Given the description of an element on the screen output the (x, y) to click on. 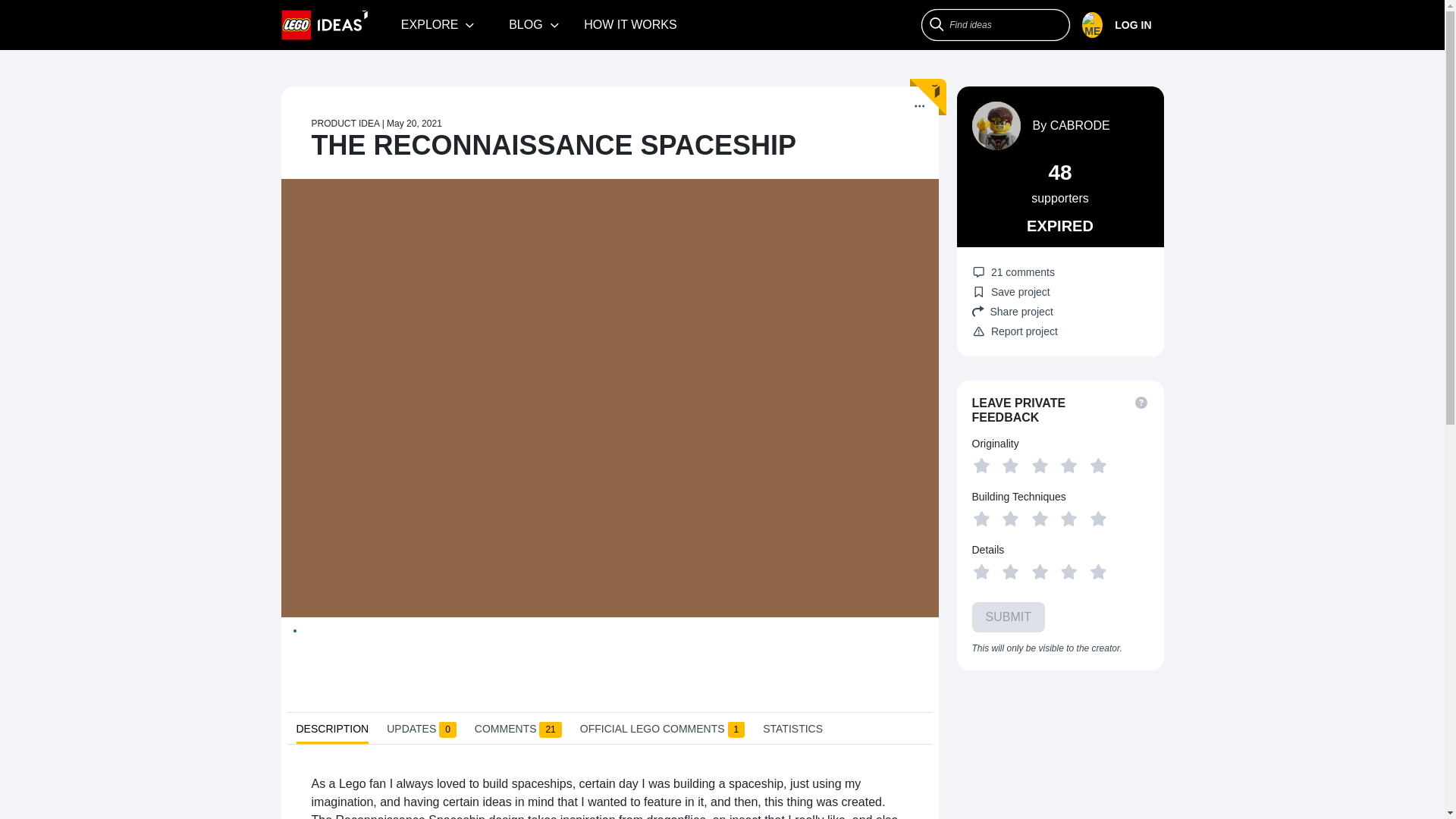
Me (1116, 25)
HOW IT WORKS (630, 24)
UPDATES 0 (422, 731)
DESCRIPTION (331, 732)
Share project (1060, 311)
Save project (1010, 291)
STATISTICS (792, 731)
2021-05-20T08:57:06.795043Z (414, 122)
LOG IN (1122, 25)
